Given the description of an element on the screen output the (x, y) to click on. 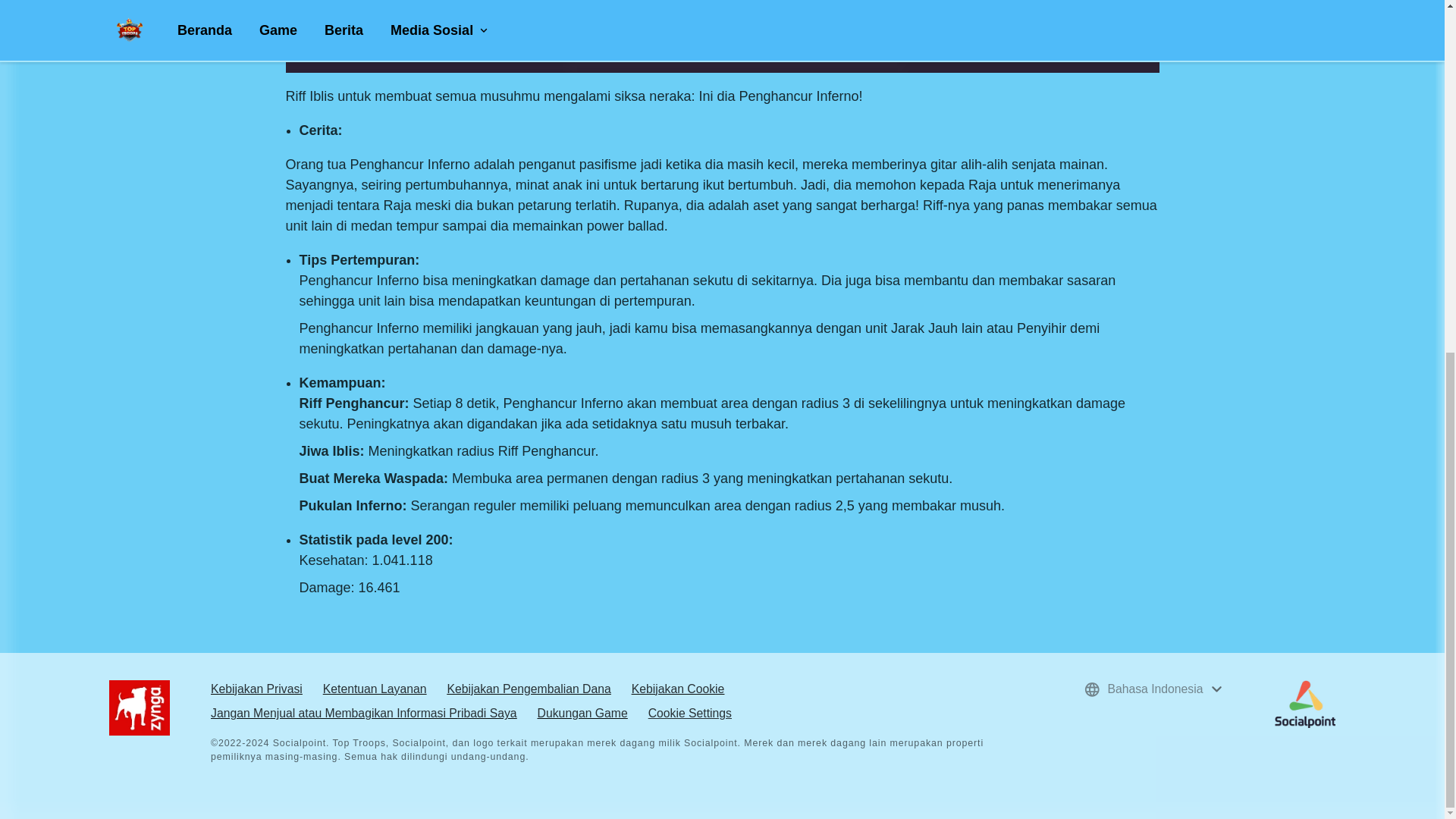
Kembali ke atas (1417, 246)
Cookie Settings (689, 713)
Dukungan Game (582, 713)
Bahasa Indonesia (1153, 688)
Kebijakan Privasi (256, 689)
Kebijakan Cookie (678, 689)
Ketentuan Layanan (374, 689)
Kebijakan Pengembalian Dana (528, 689)
Jangan Menjual atau Membagikan Informasi Pribadi Saya (363, 713)
